Given the description of an element on the screen output the (x, y) to click on. 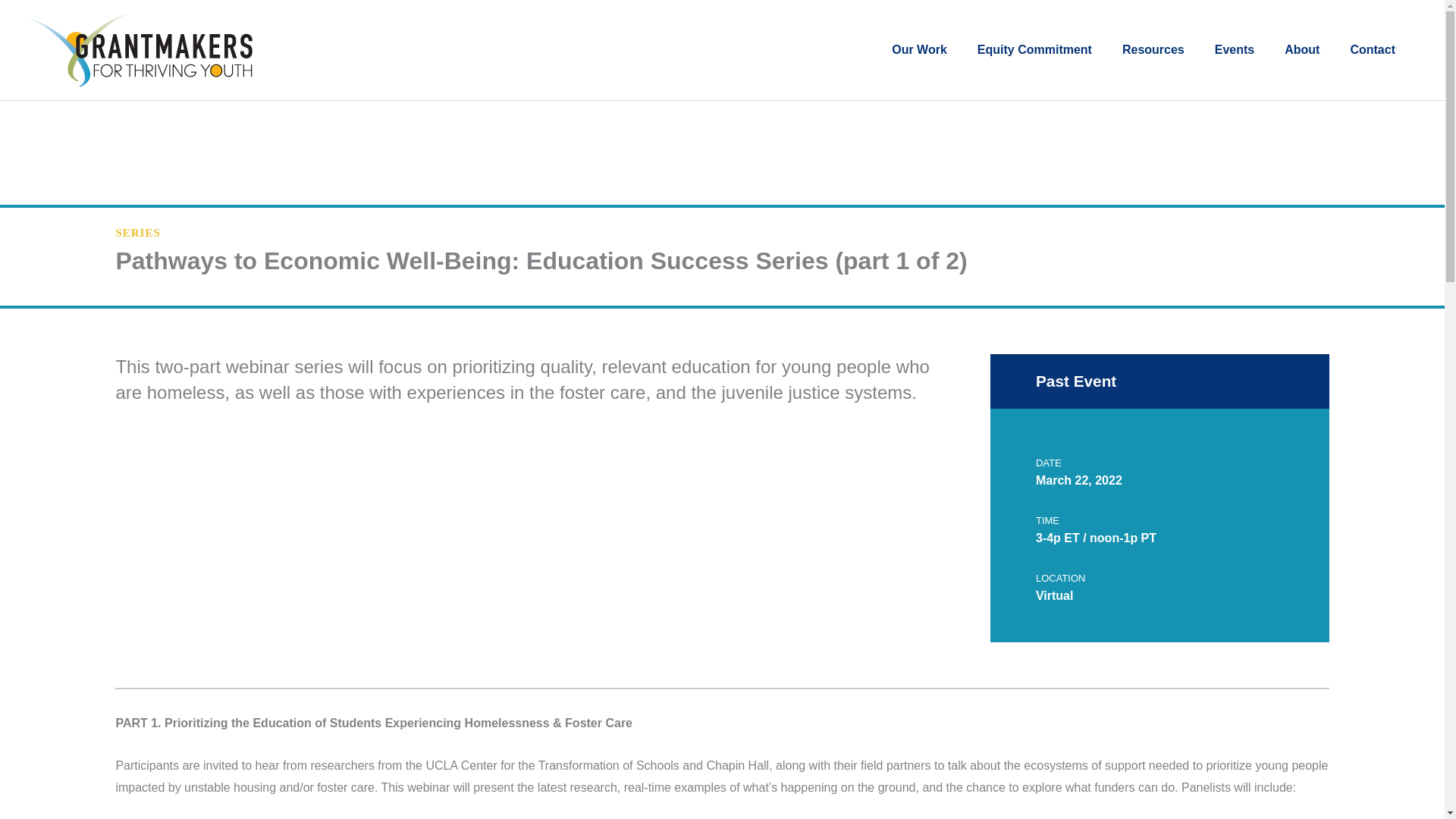
About (1286, 49)
Contact (1356, 49)
Our Work (904, 49)
Events (1219, 49)
Equity Commitment (1019, 49)
Resources (1138, 49)
